Given the description of an element on the screen output the (x, y) to click on. 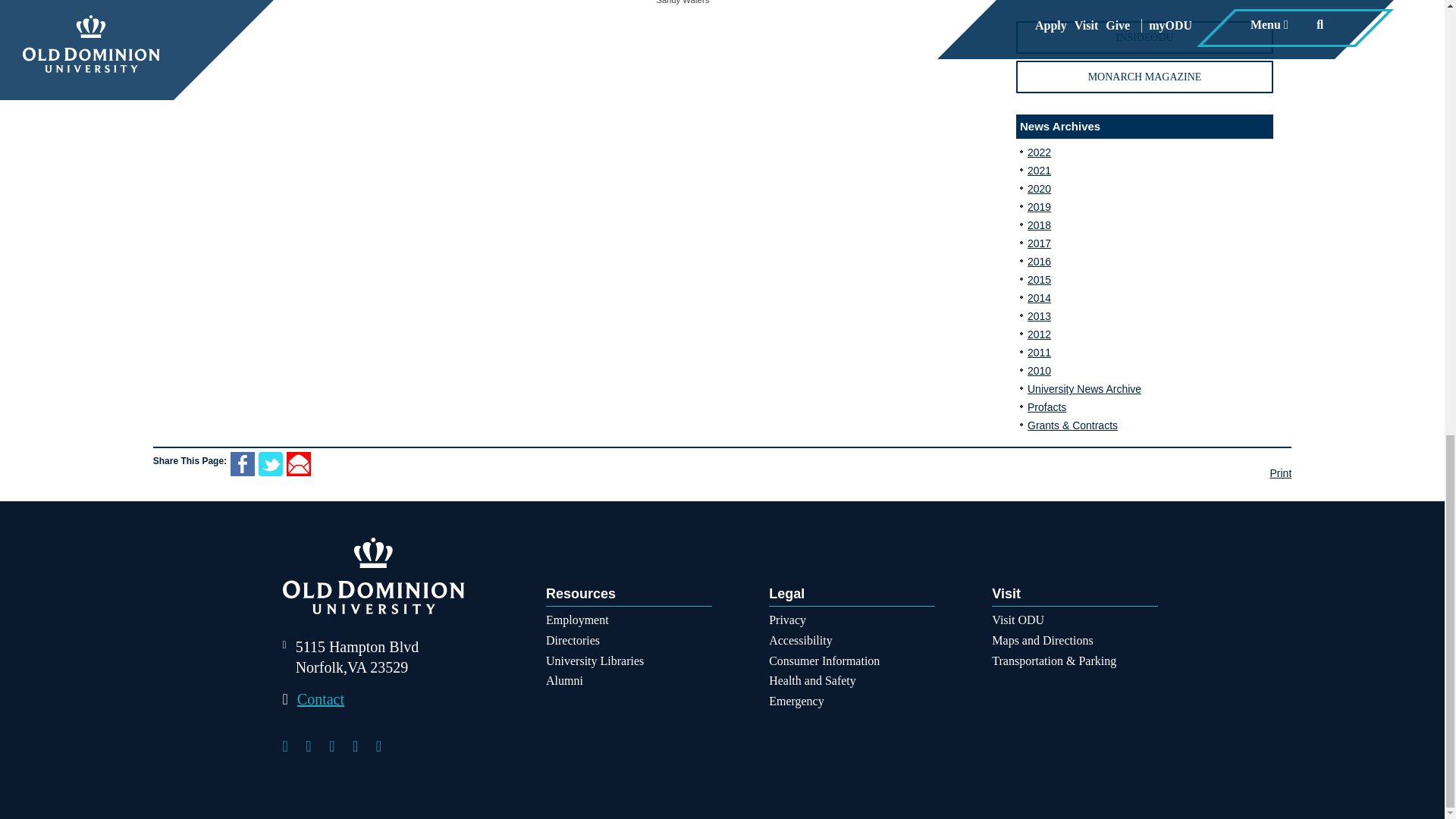
2020 (1039, 188)
2022 (1039, 152)
2022 (1039, 152)
2021 (1039, 170)
2010 (1039, 370)
INSIDEODU (1144, 37)
2015 (1039, 279)
2015 (1039, 279)
MONARCH MAGAZINE (1144, 76)
2020 (1039, 188)
